Given the description of an element on the screen output the (x, y) to click on. 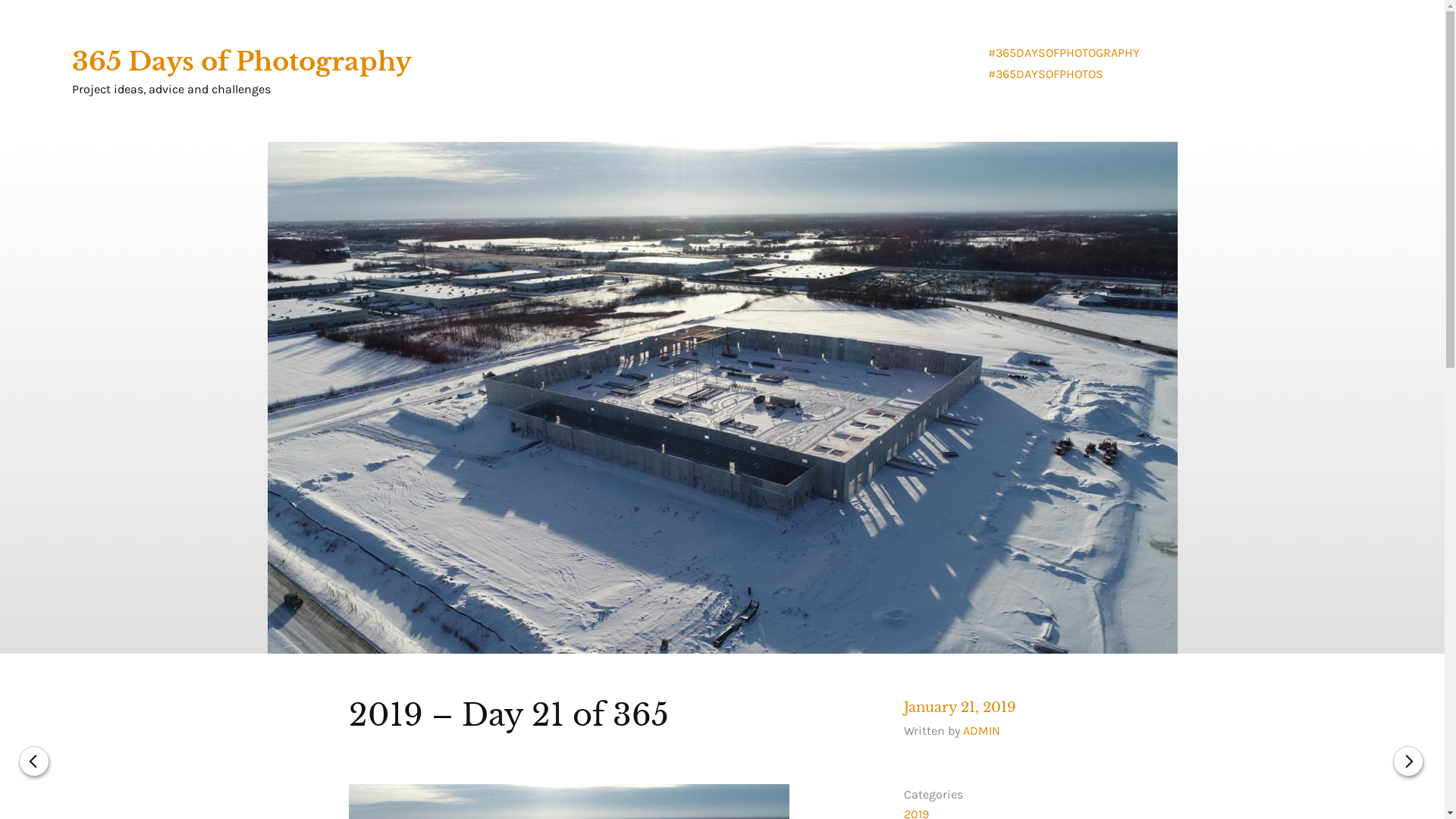
#365DAYSOFPHOTOS Element type: text (1045, 74)
January 21, 2019 Element type: text (959, 707)
365 Days of Photography Element type: text (241, 61)
Skip to content Element type: text (0, 0)
WordPress.com Element type: text (610, 775)
#365DAYSOFPHOTOGRAPHY Element type: text (1063, 52)
Proudly powered by WordPress Element type: text (362, 775)
ADMIN Element type: text (981, 730)
